Given the description of an element on the screen output the (x, y) to click on. 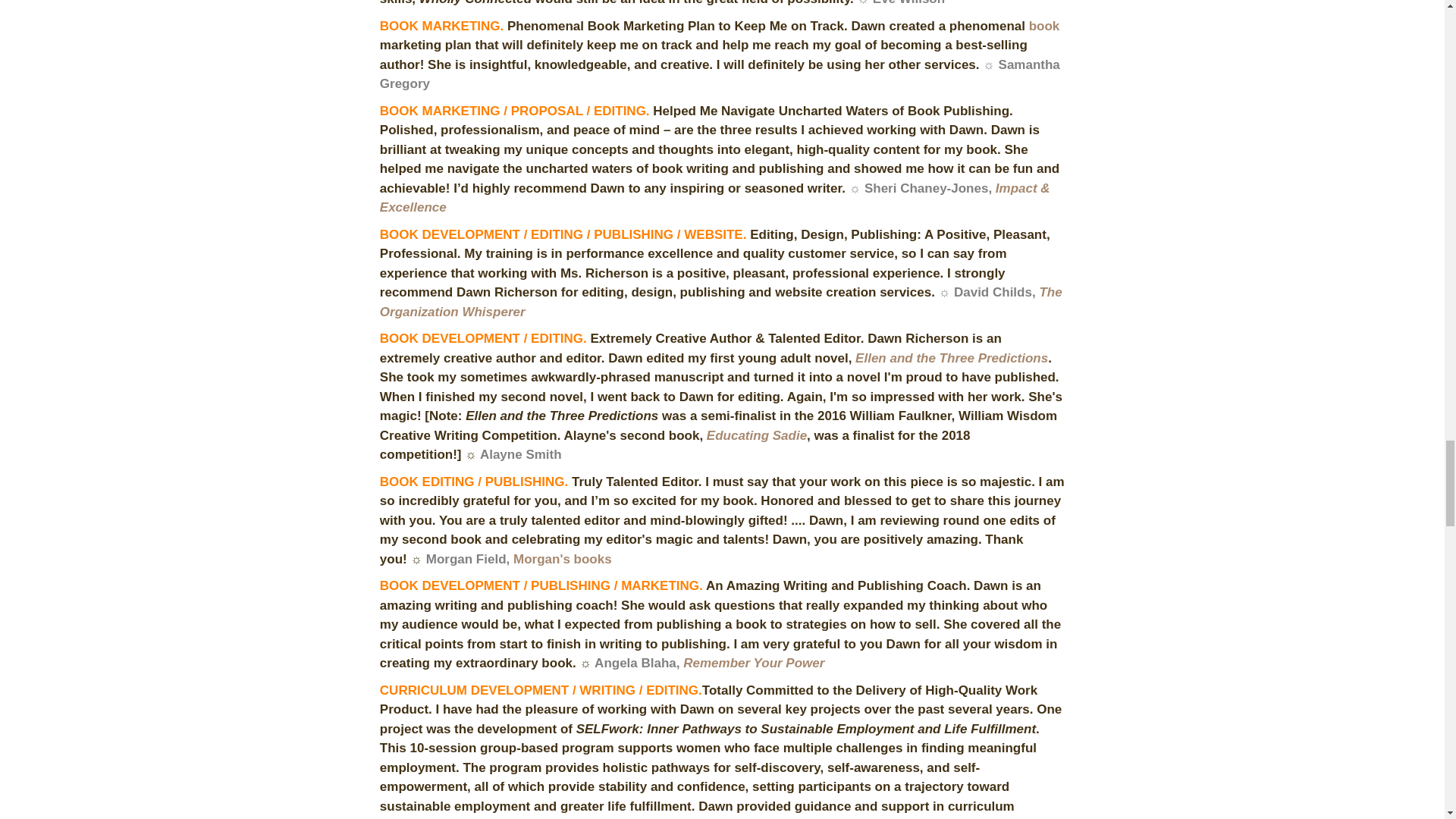
Impact and Excellence (714, 198)
The Organization Whisperer Book (721, 302)
Remember Your Power book (753, 663)
Morgan Field Books (562, 559)
Educating Sadie Book (756, 435)
